Given the description of an element on the screen output the (x, y) to click on. 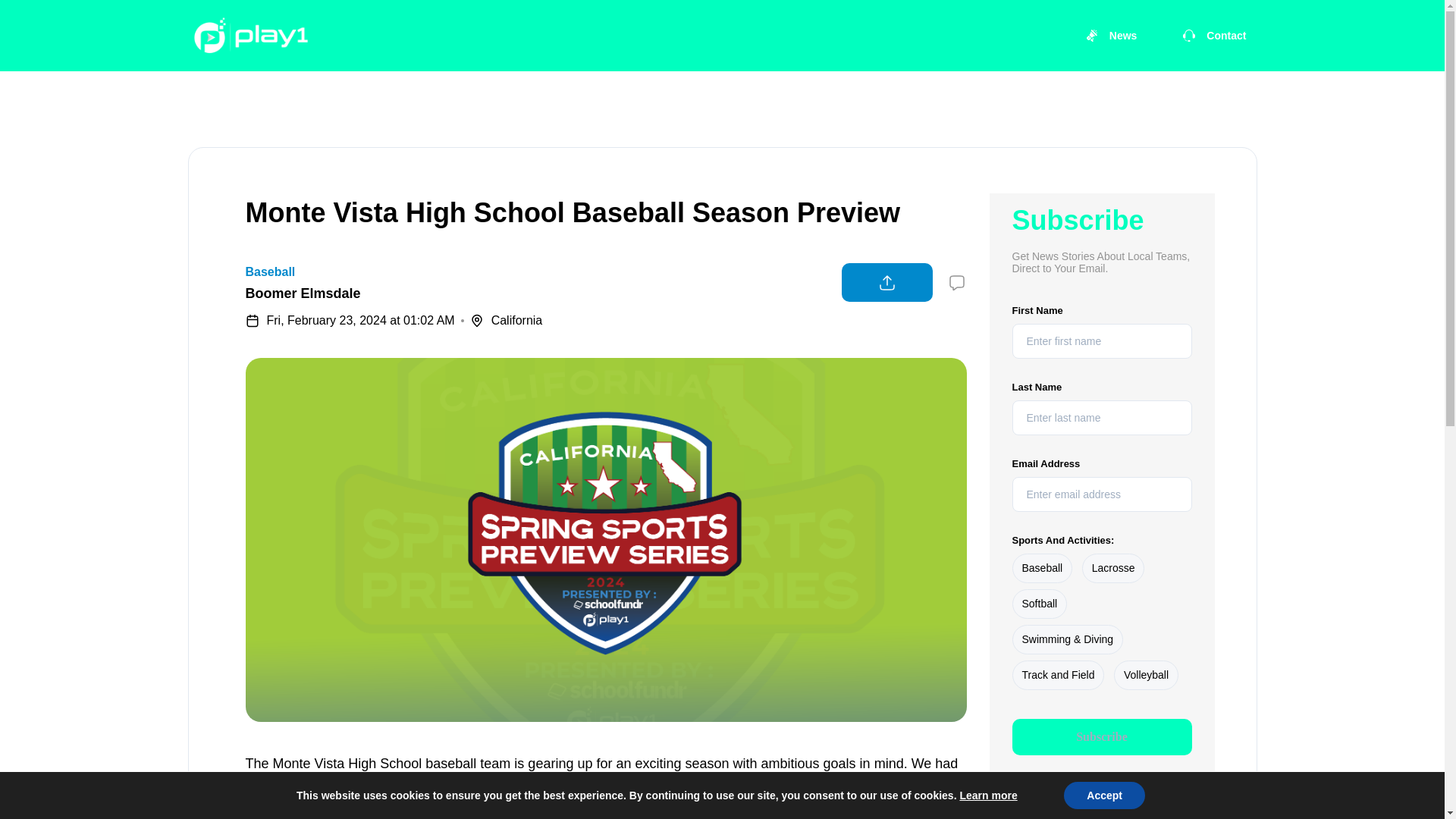
Accept (1104, 795)
Subscribe (1101, 737)
Learn more (987, 795)
News (1111, 35)
Subscribe (1101, 737)
Monte Vista High School Baseball Season Preview (573, 212)
Contact (1214, 35)
